Given the description of an element on the screen output the (x, y) to click on. 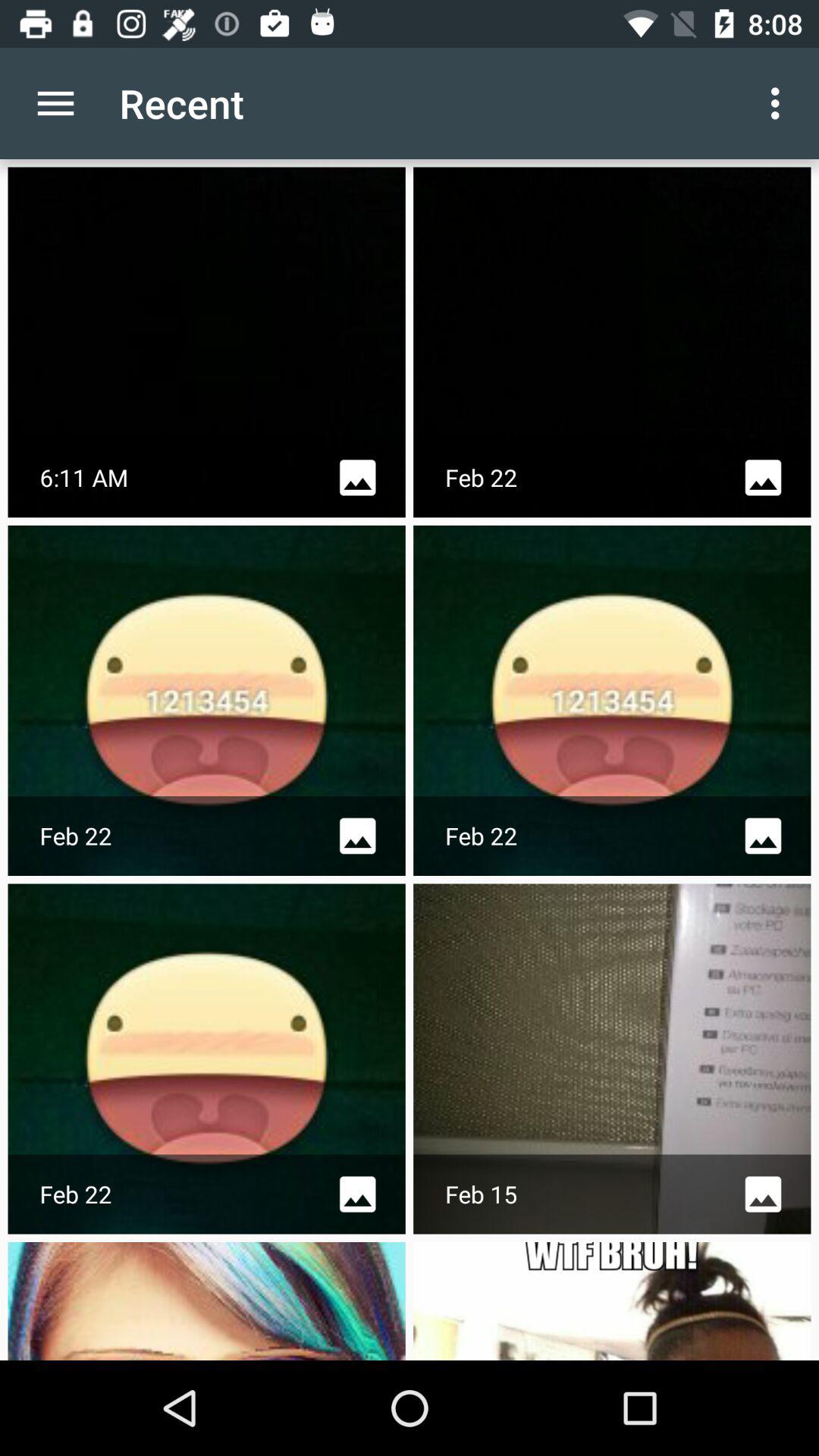
click icon next to recent icon (55, 103)
